Given the description of an element on the screen output the (x, y) to click on. 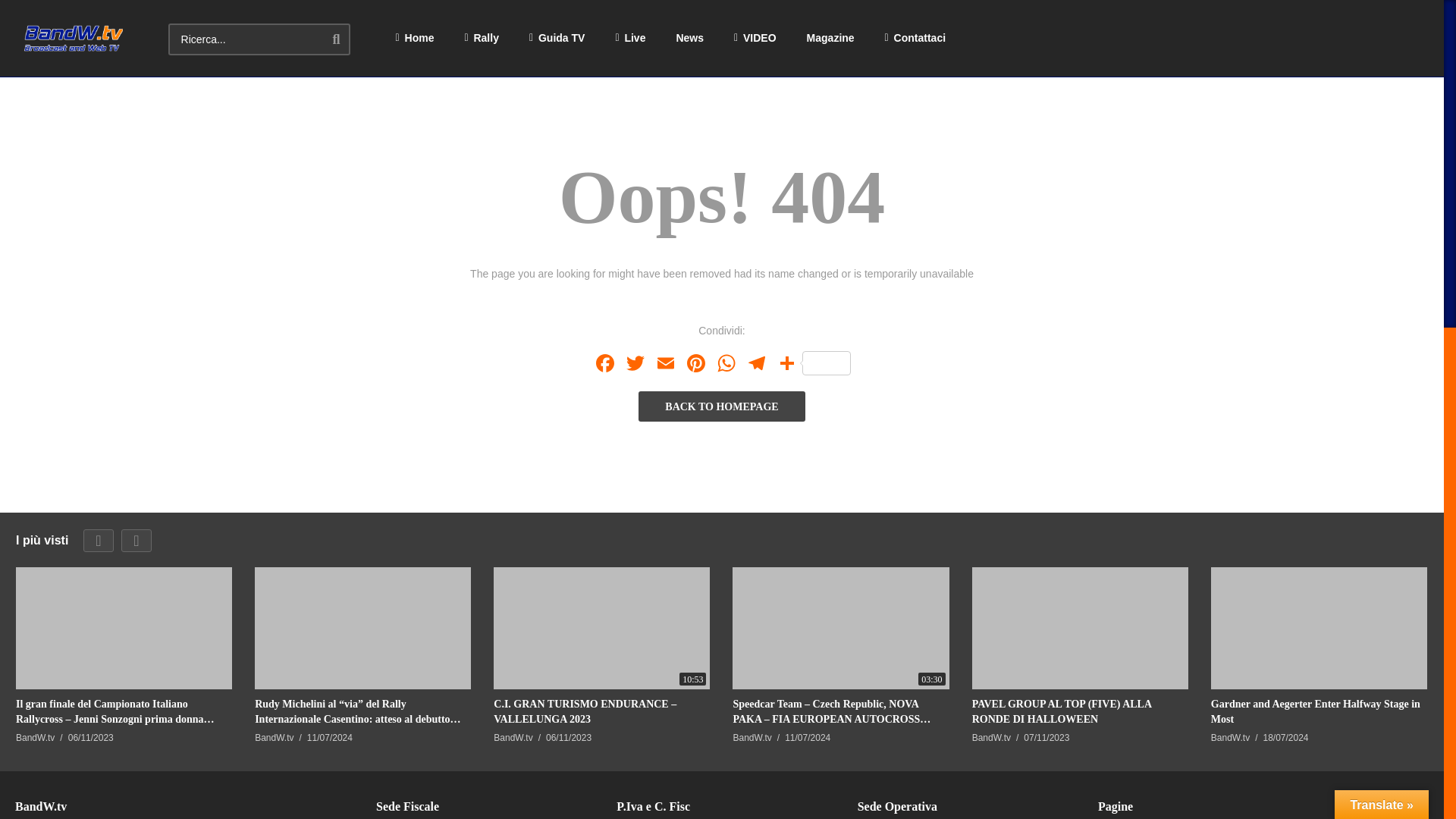
Facebook (604, 365)
Twitter (635, 365)
Pinterest (696, 365)
Email (665, 365)
Telegram (756, 365)
VIDEO (755, 38)
WhatsApp (726, 365)
Home (414, 38)
Guida TV (556, 38)
BandW.tv (72, 37)
